Given the description of an element on the screen output the (x, y) to click on. 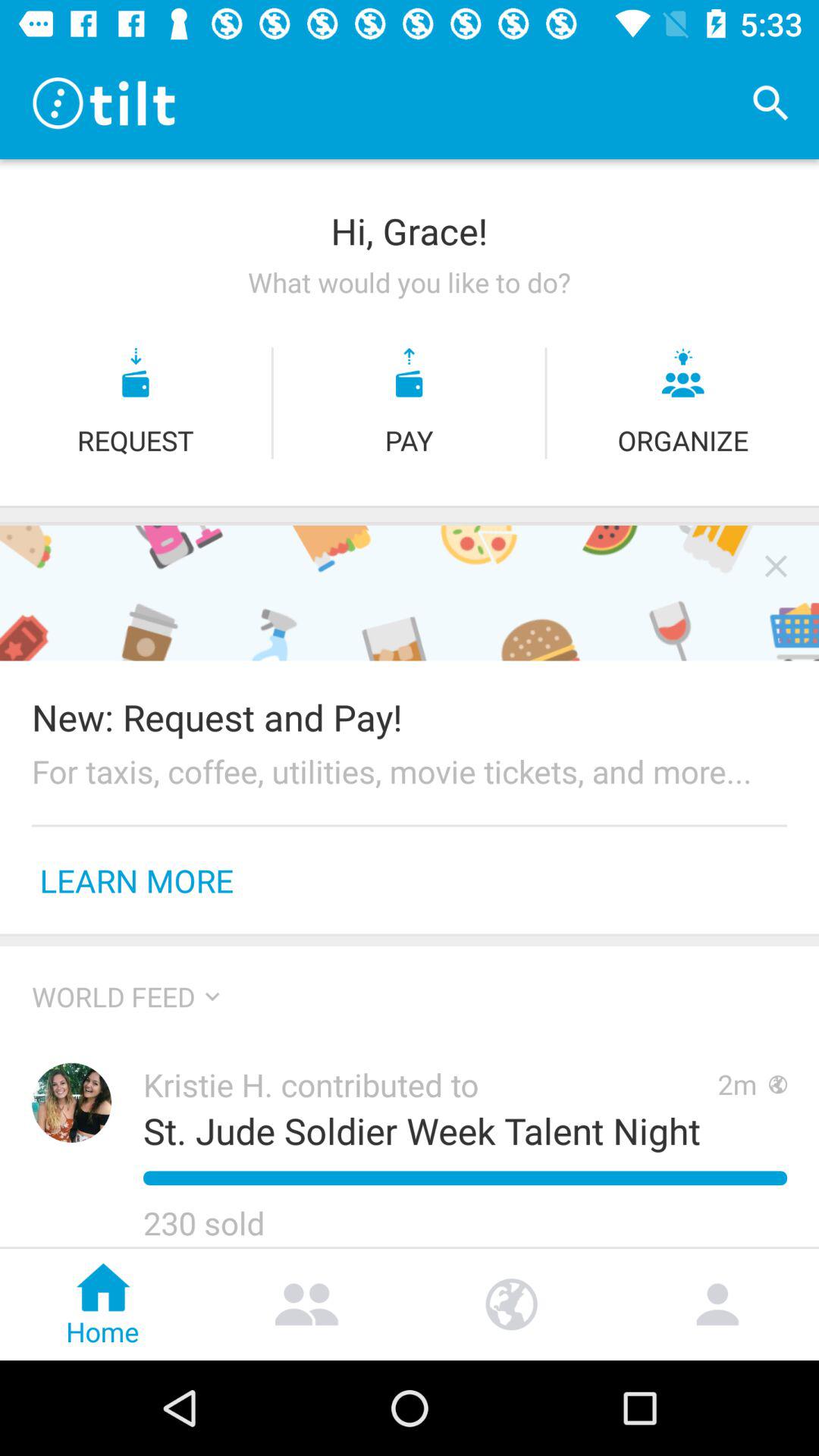
close the corresponding frame (776, 566)
